Given the description of an element on the screen output the (x, y) to click on. 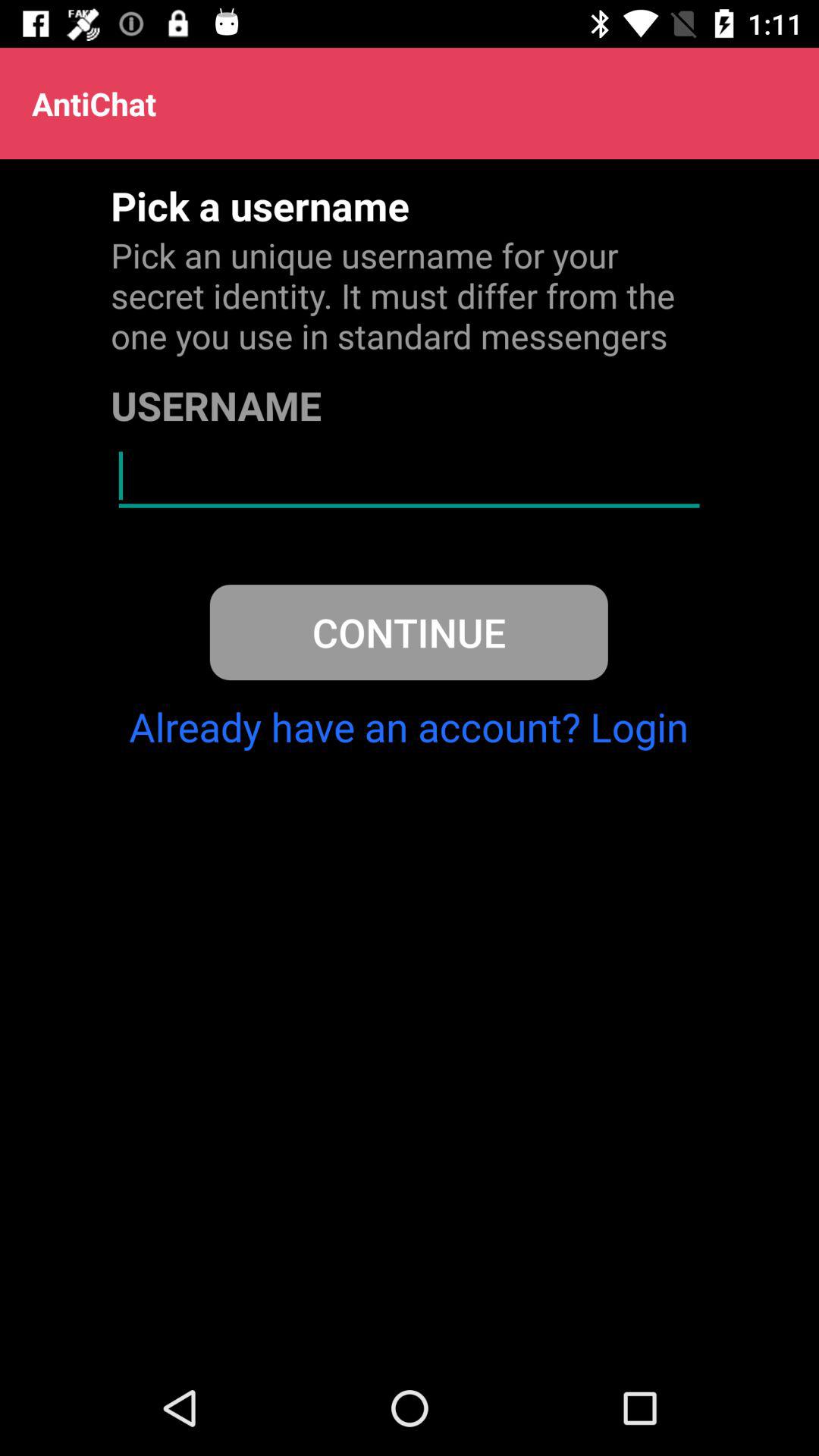
open continue (408, 632)
